Given the description of an element on the screen output the (x, y) to click on. 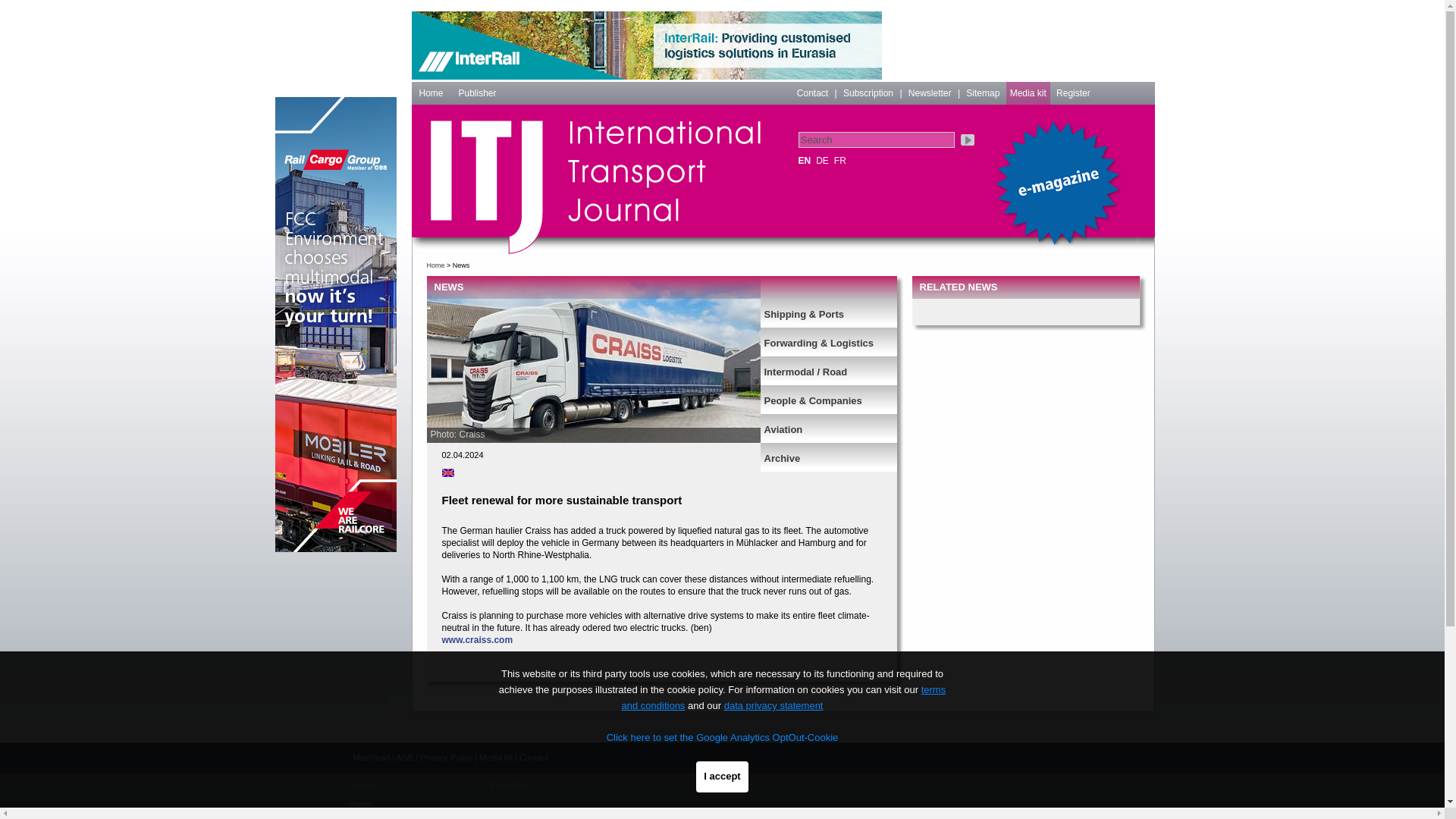
Home (429, 92)
Contact (812, 92)
Masthead (371, 757)
DE (821, 160)
Aviation (818, 424)
EN (803, 160)
Home (435, 265)
Register (1073, 92)
www.craiss.com (476, 639)
FR (839, 160)
